Given the description of an element on the screen output the (x, y) to click on. 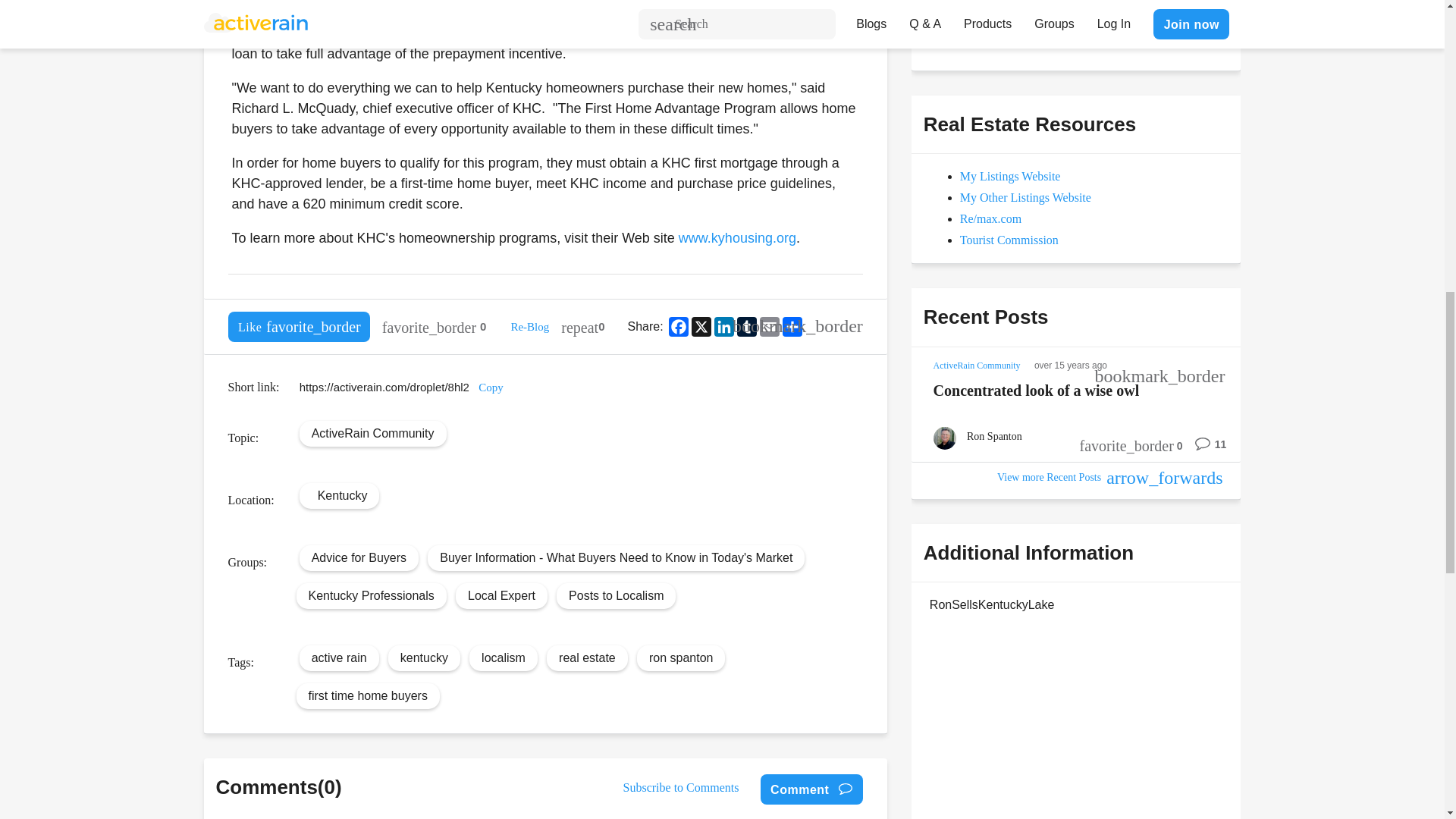
X (701, 326)
Share (791, 326)
Tourist Commission (1008, 239)
This entry hasn't been re-blogged (582, 327)
Copy (491, 387)
My Other Listings Website (1024, 196)
My Listings Website (1010, 175)
Tumblr (746, 326)
LinkedIn (724, 326)
Kentucky (342, 494)
Advice for Buyers (358, 556)
Re-Blog (529, 326)
www.kyhousing.org (737, 237)
ActiveRain Community (372, 431)
